Given the description of an element on the screen output the (x, y) to click on. 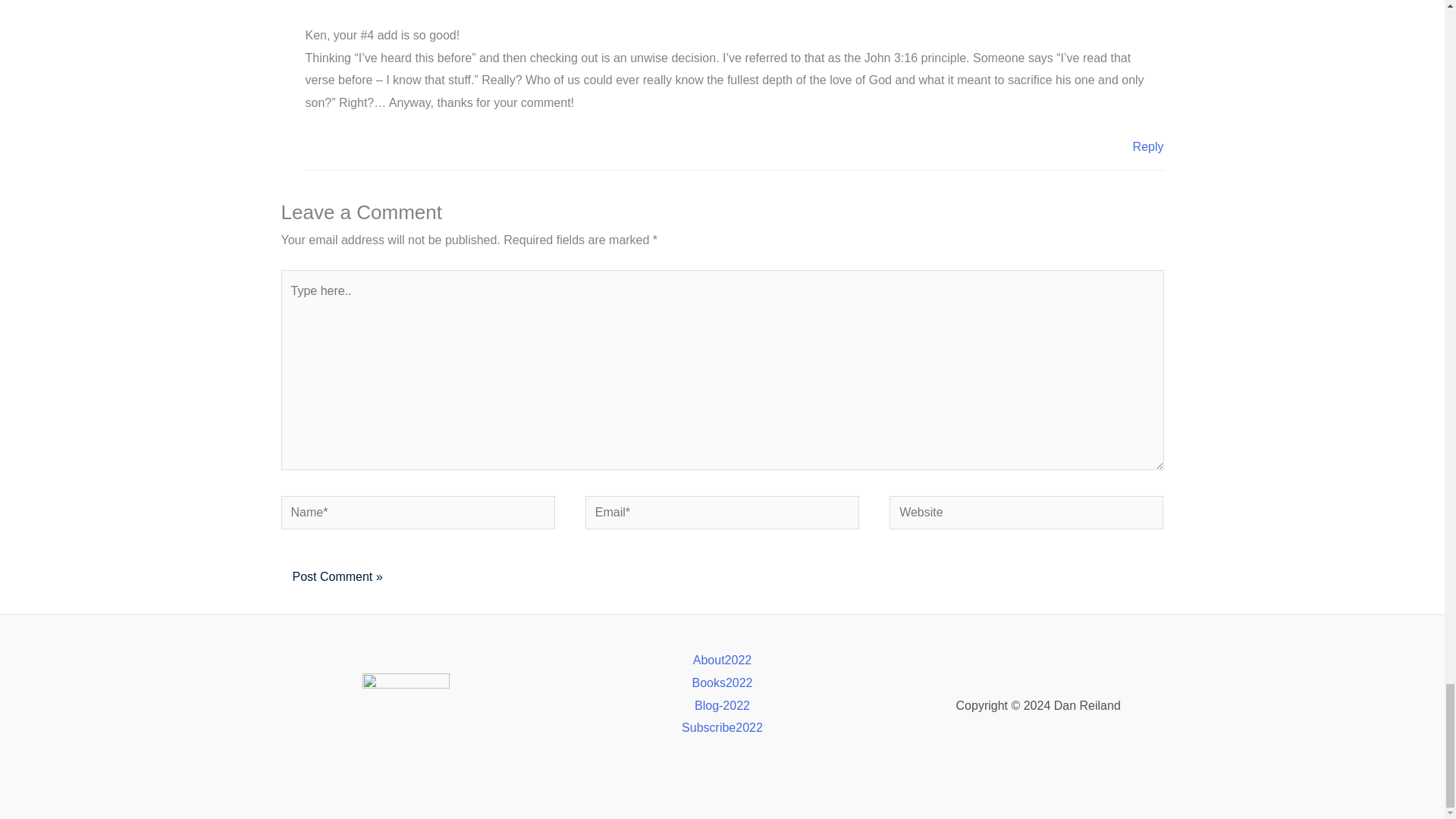
Reply (1147, 146)
About2022 (722, 660)
Books2022 (721, 682)
Blog-2022 (721, 705)
Subscribe2022 (721, 727)
